Given the description of an element on the screen output the (x, y) to click on. 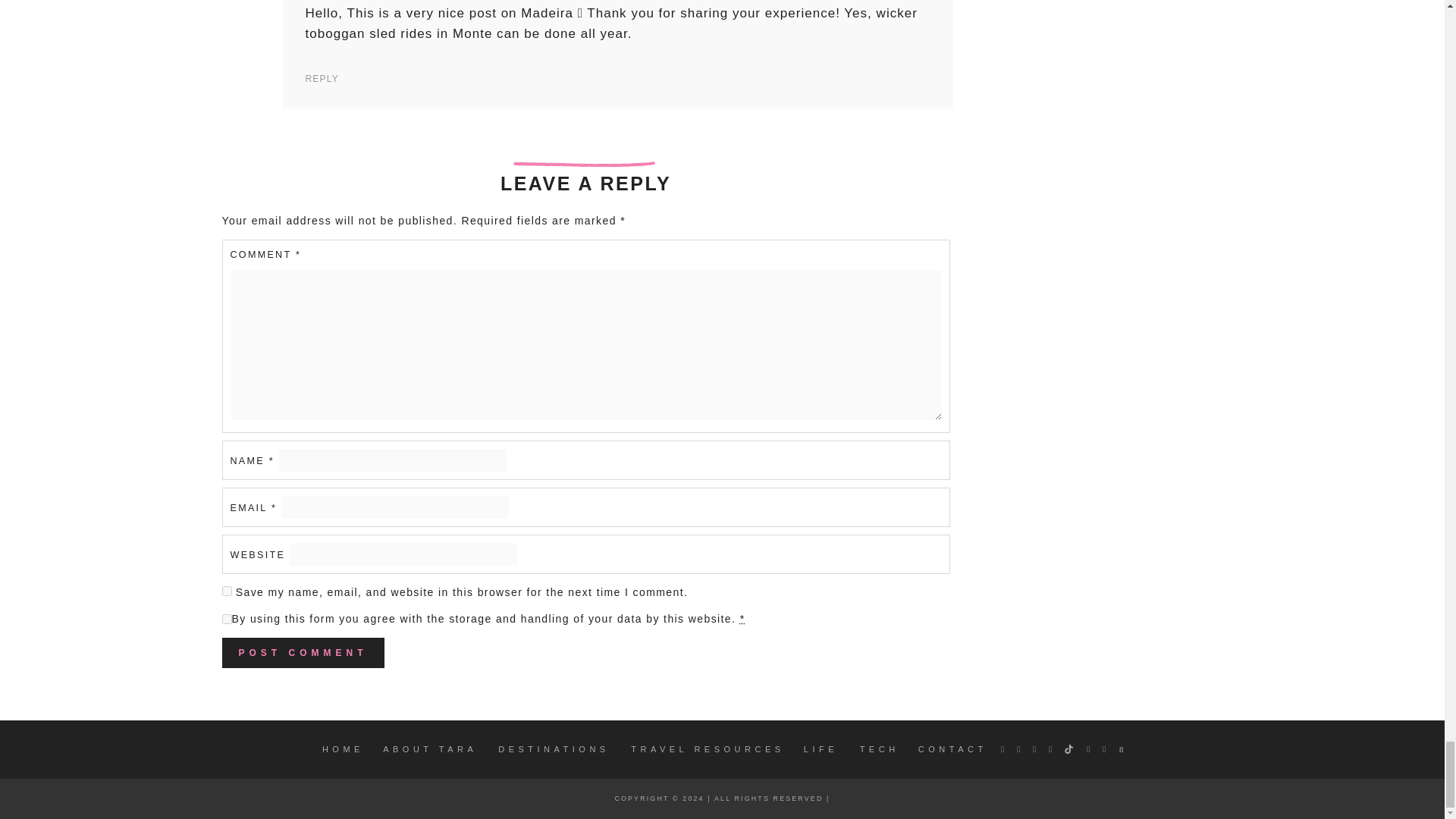
yes (226, 591)
Post Comment (302, 653)
